Given the description of an element on the screen output the (x, y) to click on. 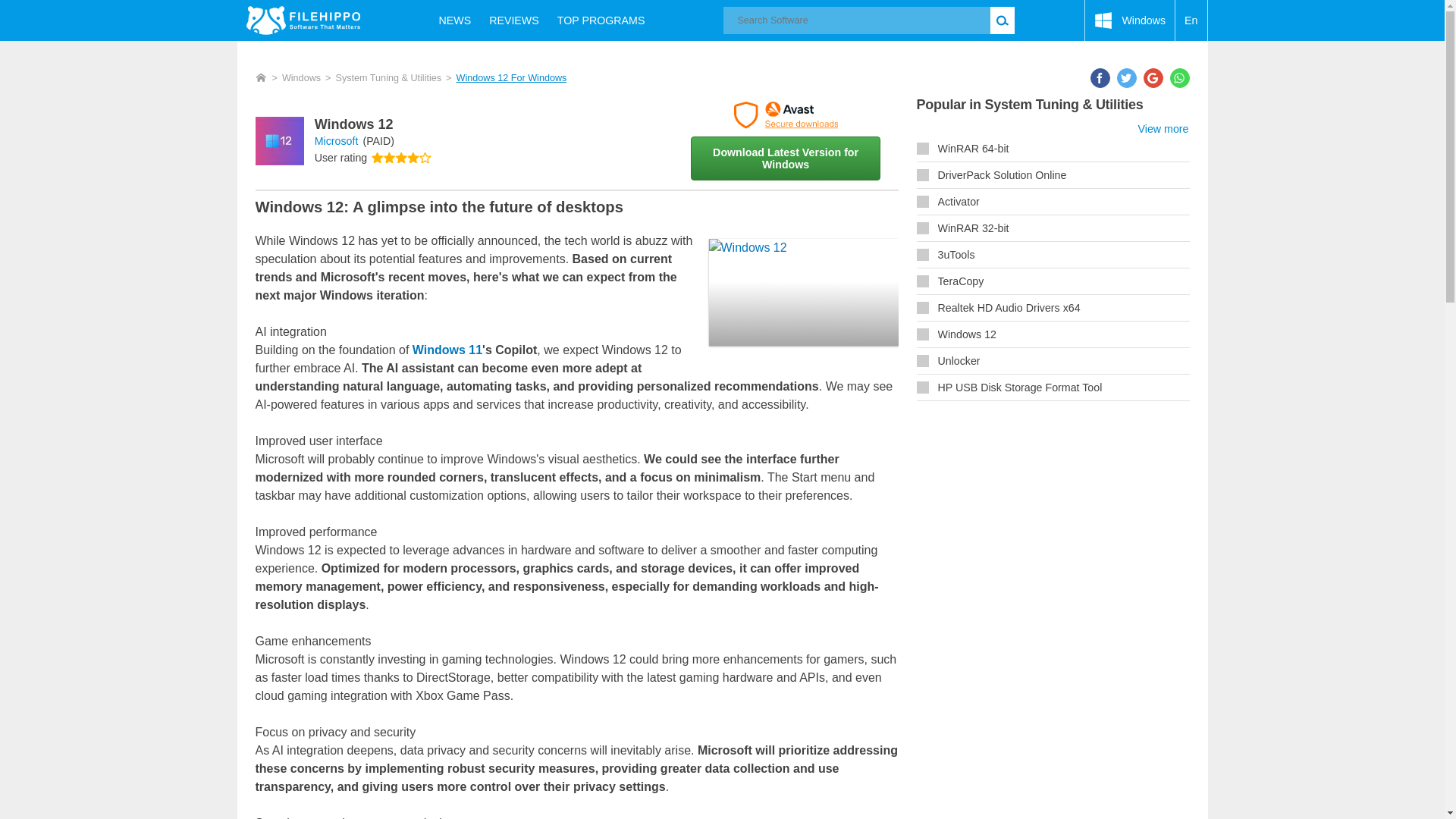
News (454, 20)
Windows (1129, 20)
NEWS (454, 20)
Windows 12 For Windows (510, 77)
Windows (1129, 20)
REVIEWS (514, 20)
TOP PROGRAMS (600, 20)
Microsoft (336, 141)
Windows (301, 77)
Top Programs (600, 20)
Filehippo (302, 20)
Reviews (514, 20)
